Given the description of an element on the screen output the (x, y) to click on. 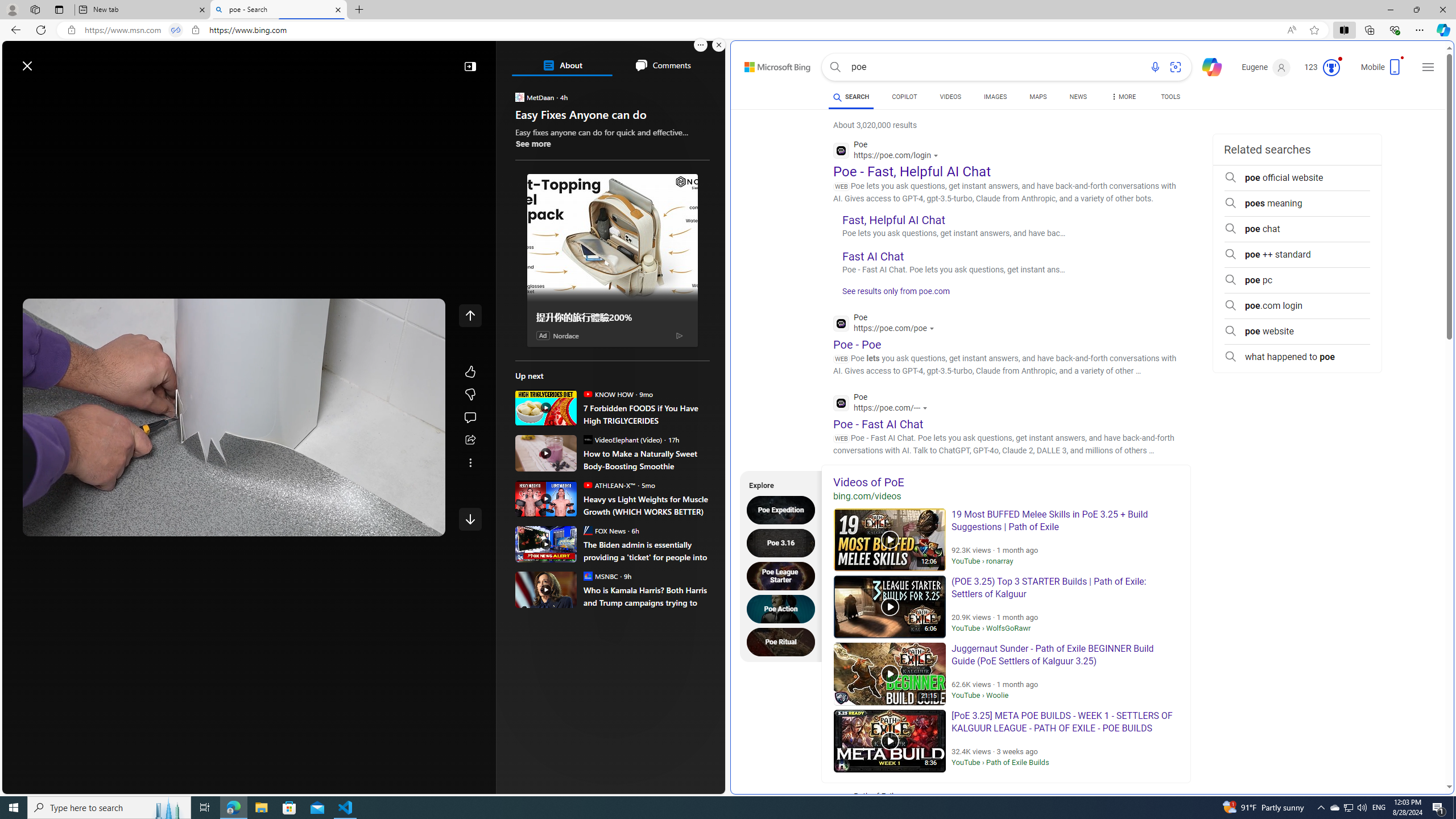
Back to Bing search (770, 64)
VideoElephant (Video) (587, 438)
what happened to poe (1297, 356)
Collapse (469, 65)
Tabs in split screen (175, 29)
Personalize (679, 92)
Dropdown Menu (1123, 96)
